Given the description of an element on the screen output the (x, y) to click on. 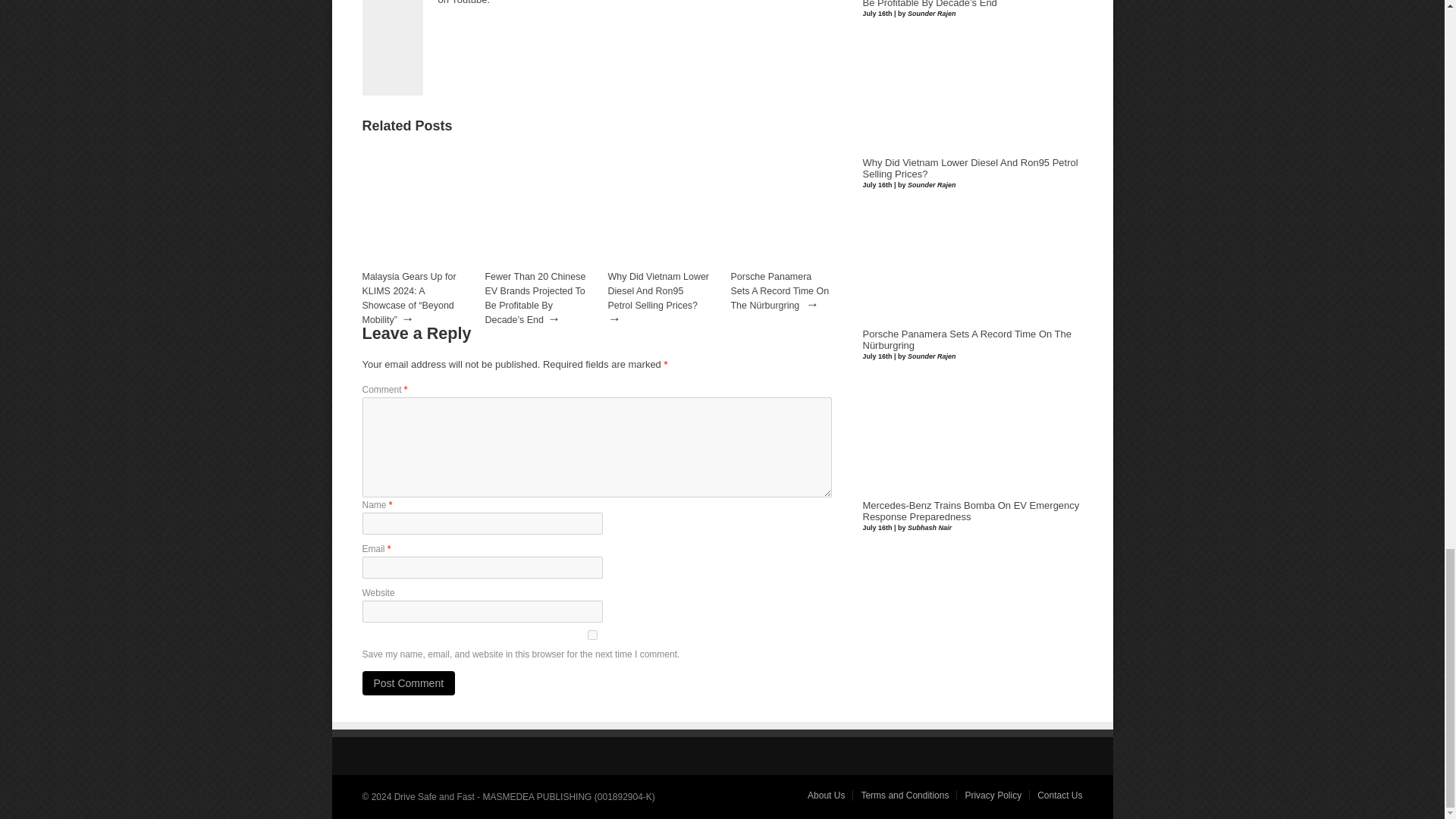
yes (593, 634)
Post Comment (408, 682)
Post Comment (408, 682)
